Given the description of an element on the screen output the (x, y) to click on. 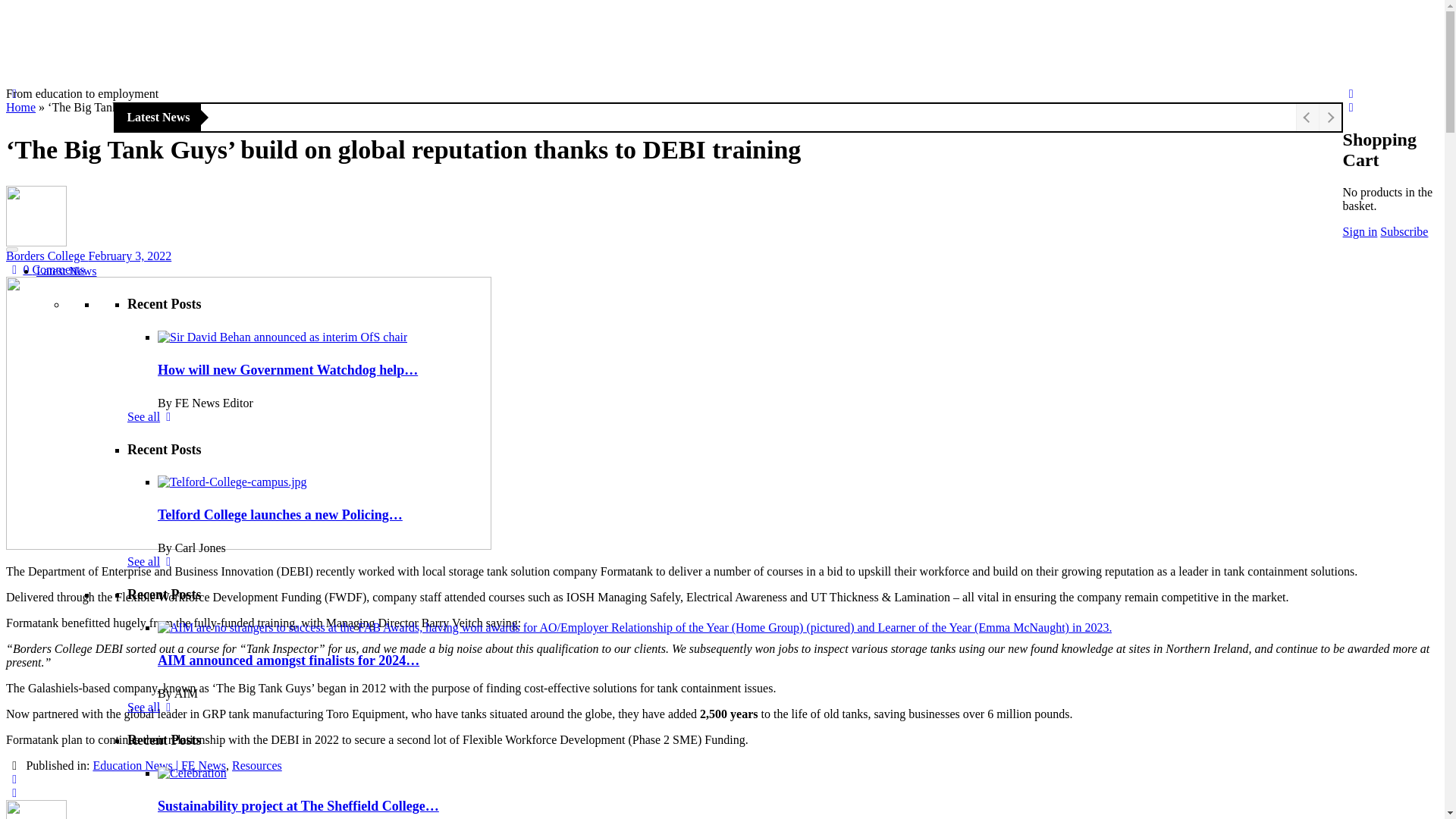
Subscribe (1404, 231)
See all (152, 561)
Sign in (1359, 231)
See all (152, 416)
Latest News (66, 270)
See all (152, 707)
